Given the description of an element on the screen output the (x, y) to click on. 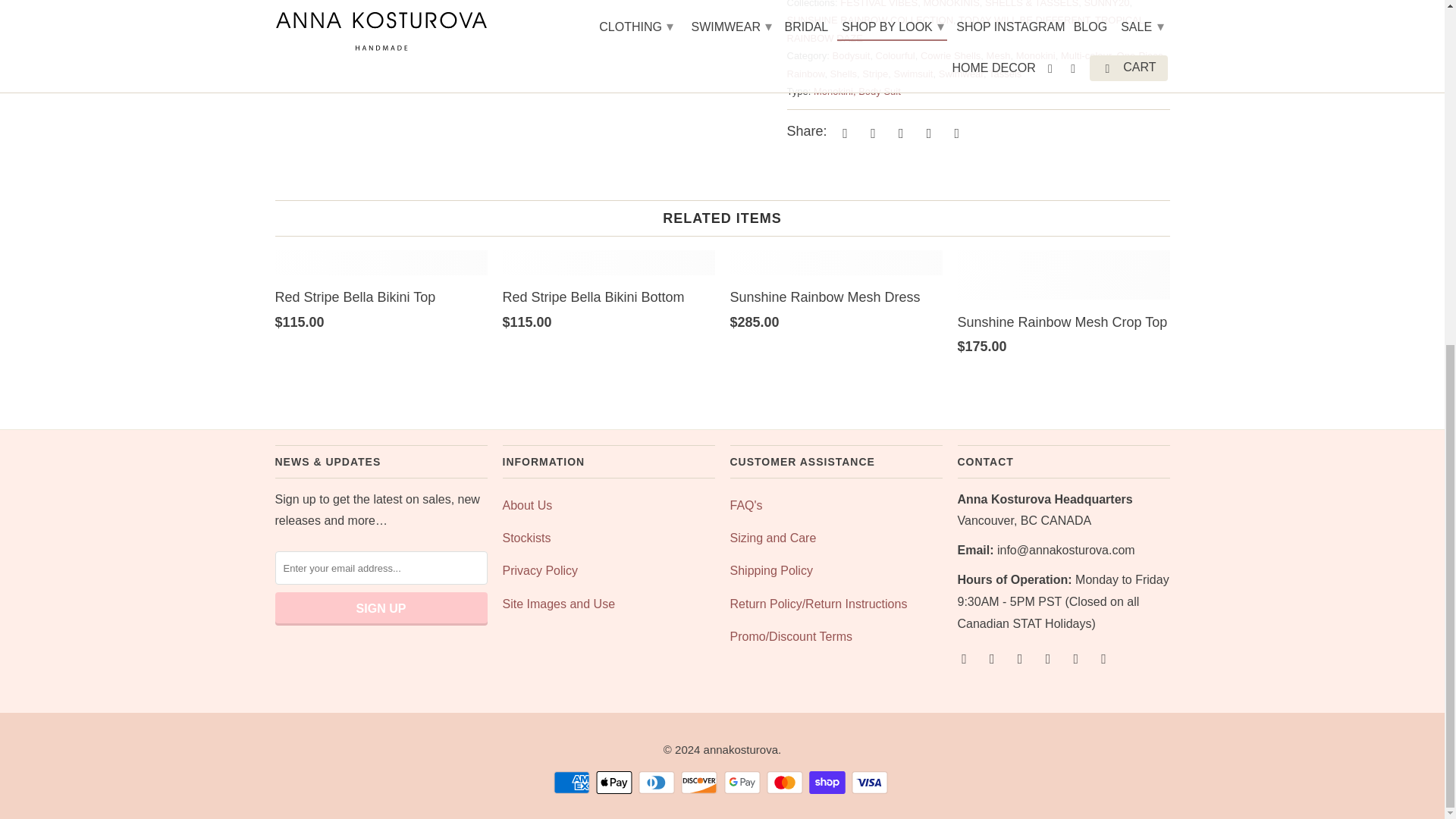
American Express (572, 782)
SUNNY20 (1106, 4)
Sign Up (380, 608)
Mastercard (786, 782)
Google Pay (742, 782)
Diners Club (658, 782)
FESTIVAL VIBES (878, 4)
Visa (871, 782)
Discover (700, 782)
MONOKINIS (950, 4)
Shop Pay (828, 782)
Apple Pay (614, 782)
